Given the description of an element on the screen output the (x, y) to click on. 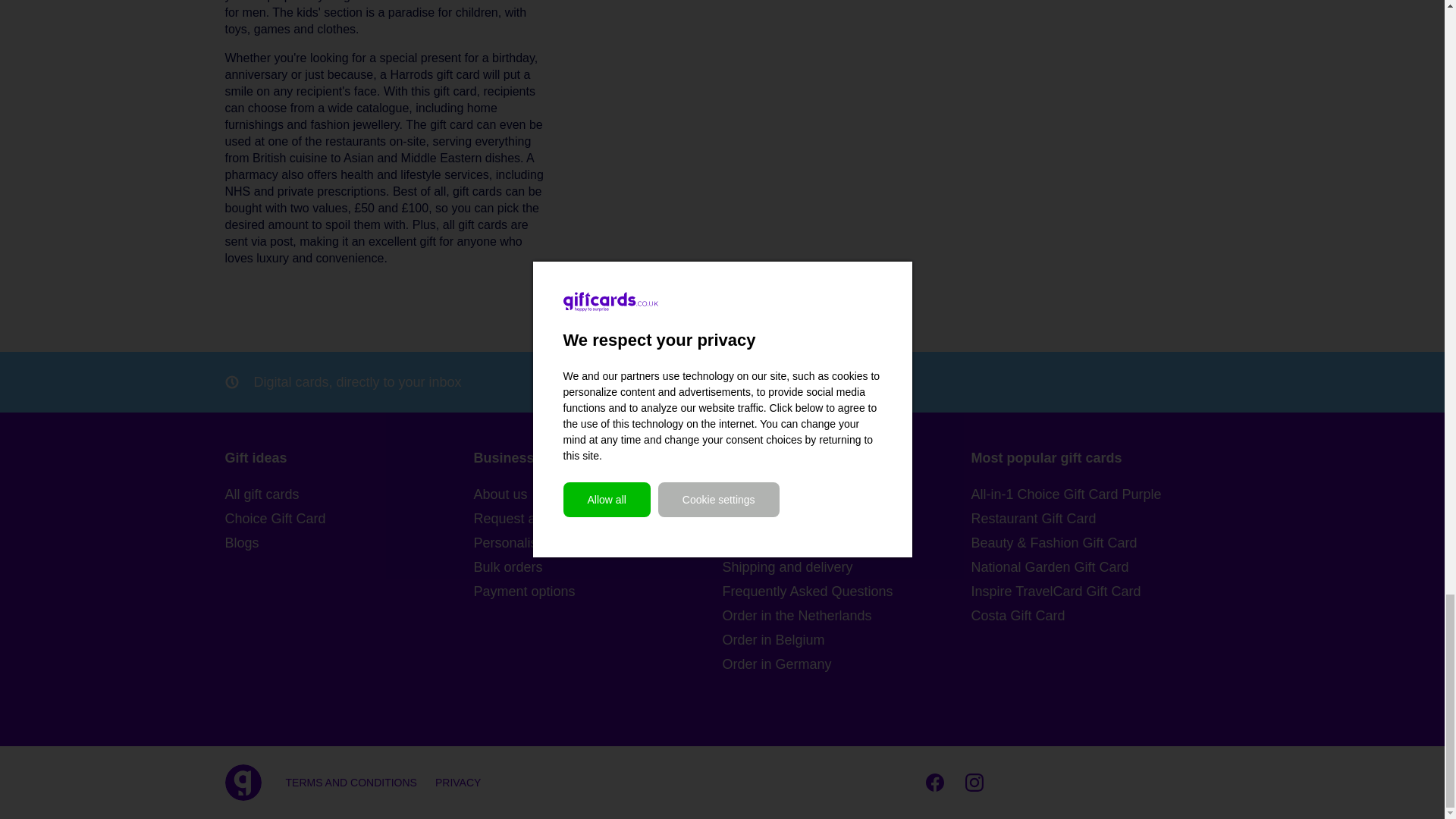
Costa Gift Card (1095, 615)
Redeem Choice Gift Card (846, 542)
Order in the Netherlands (846, 615)
About us (597, 494)
TERMS AND CONDITIONS (350, 782)
Bulk orders (597, 566)
National Garden Gift Card (1095, 566)
Blogs (348, 542)
All-in-1 Choice Gift Card Purple (1095, 494)
Payment options (597, 591)
Restaurant Gift Card (1095, 518)
Personalisation (597, 542)
All gift cards (348, 494)
Frequently Asked Questions (846, 591)
Inspire TravelCard Gift Card (1095, 591)
